Given the description of an element on the screen output the (x, y) to click on. 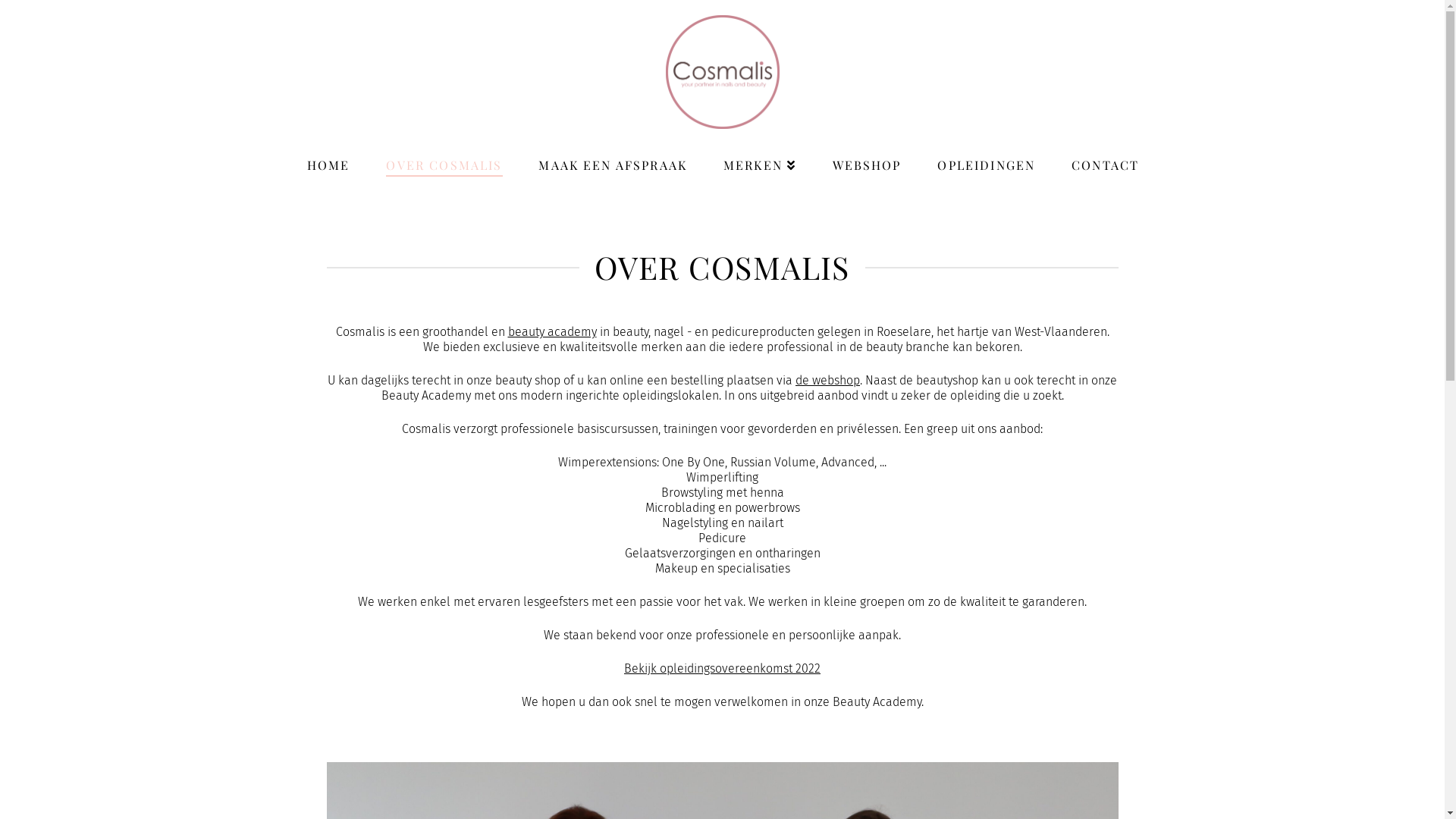
groothandel Element type: text (454, 331)
beauty academy Element type: text (552, 331)
MAAK EEN AFSPRAAK Element type: text (611, 155)
MERKEN Element type: text (758, 155)
OPLEIDINGEN Element type: text (985, 155)
de webshop Element type: text (827, 380)
OVER COSMALIS Element type: text (443, 155)
WEBSHOP Element type: text (866, 155)
HOME Element type: text (327, 155)
CONTACT Element type: text (1104, 155)
Bekijk opleidingsovereenkomst 2022 Element type: text (722, 668)
